Given the description of an element on the screen output the (x, y) to click on. 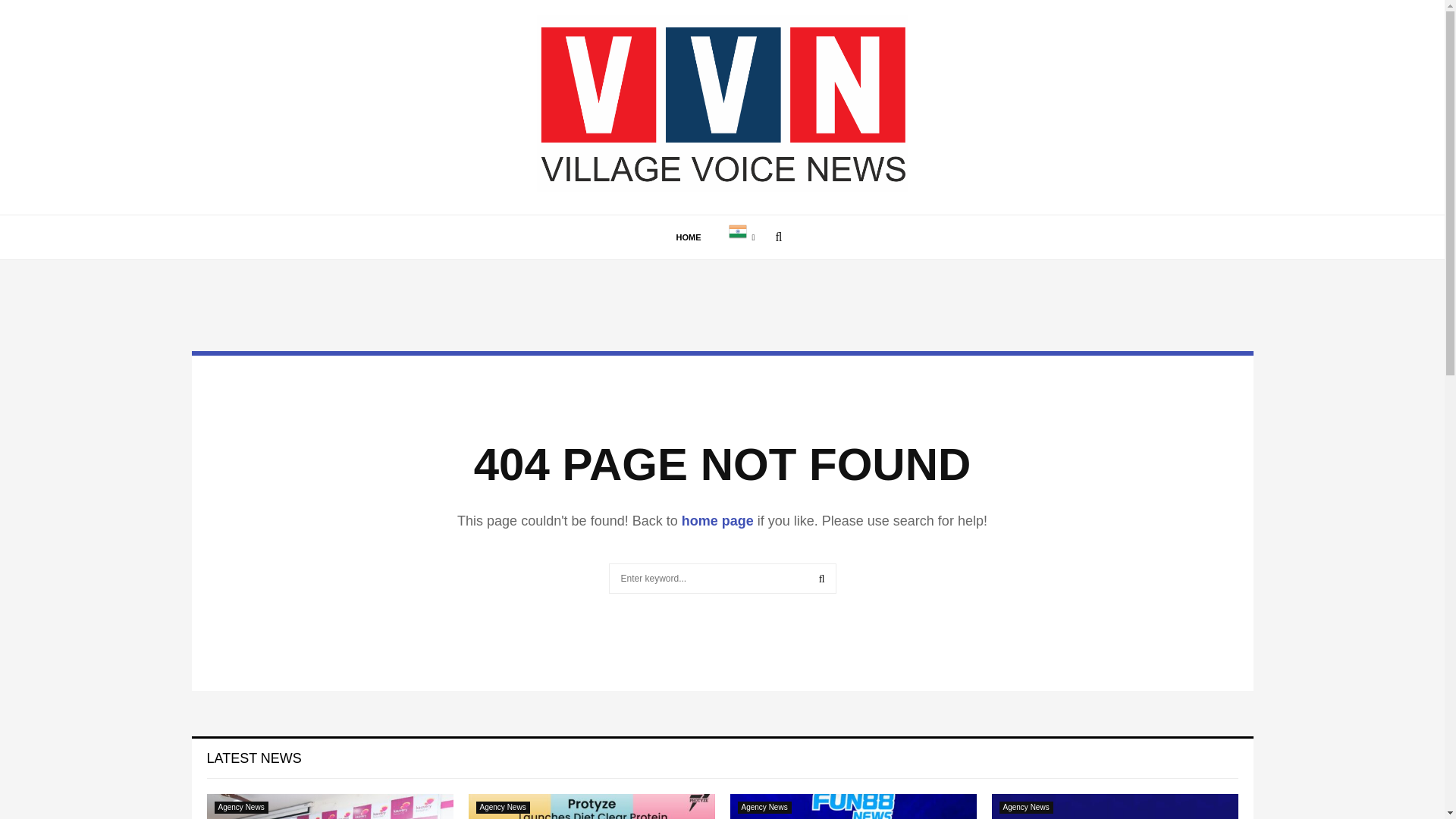
Agency News (1025, 807)
Hindi (741, 237)
home page (717, 520)
LATEST NEWS (253, 758)
View all posts in Agency News (1025, 807)
View all posts in Agency News (763, 807)
SEARCH (821, 578)
View all posts in Agency News (502, 807)
Agency News (763, 807)
Agency News (502, 807)
Latest News (253, 758)
View all posts in Agency News (240, 807)
Agency News (240, 807)
